Given the description of an element on the screen output the (x, y) to click on. 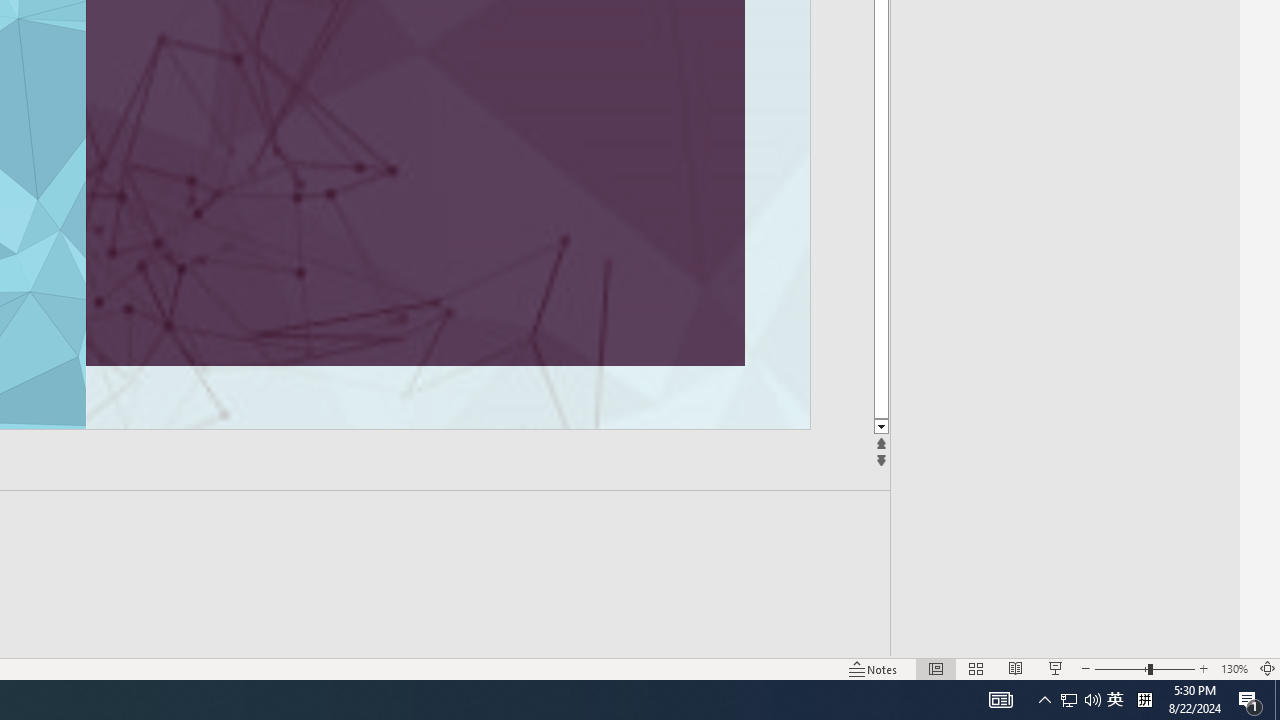
Zoom 130% (1234, 668)
